Given the description of an element on the screen output the (x, y) to click on. 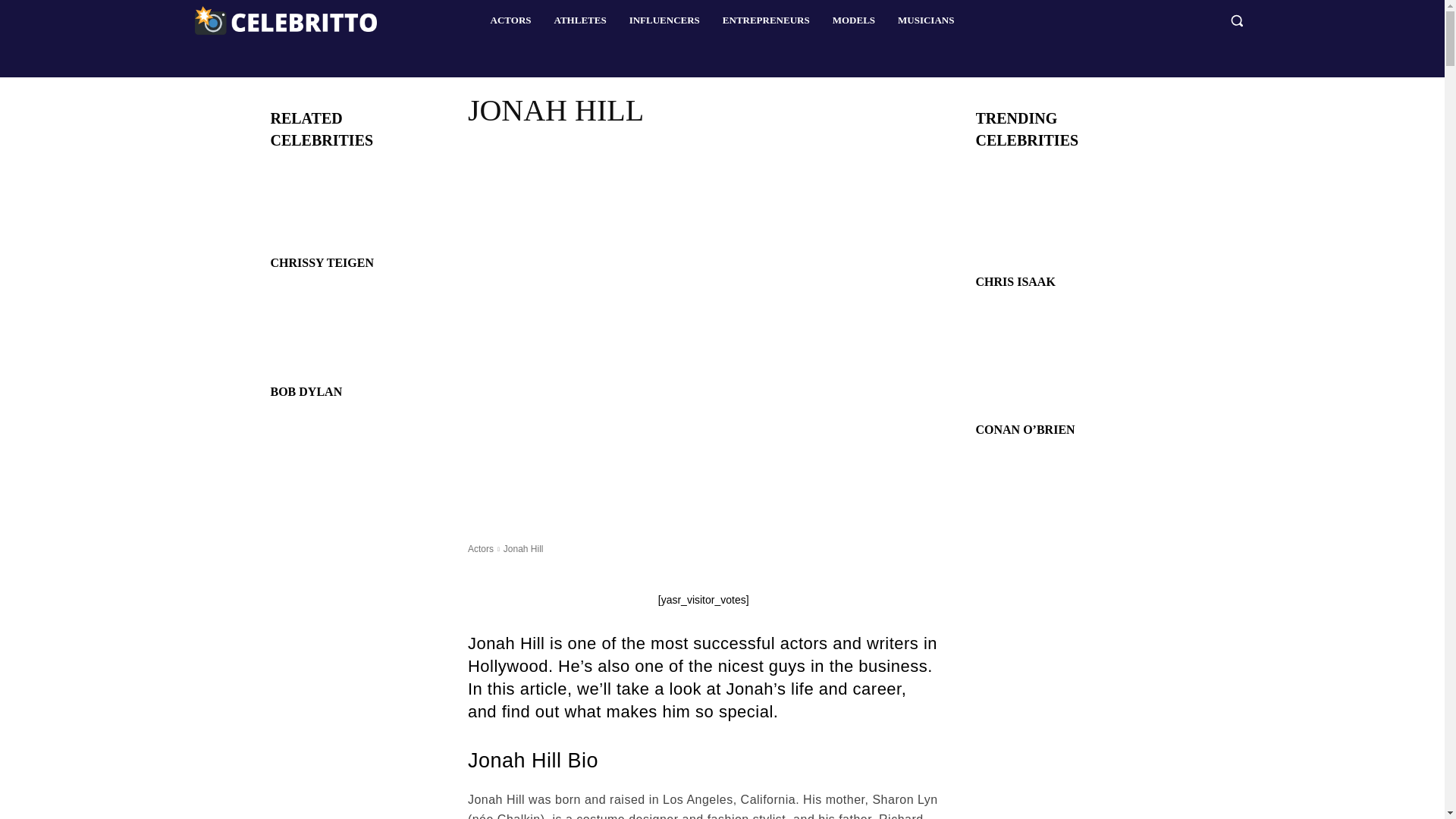
BOB DYLAN (305, 391)
Chrissy Teigen (349, 205)
MODELS (853, 20)
View all posts in Actors (480, 548)
Bob Dylan (349, 334)
MUSICIANS (924, 20)
ACTORS (510, 20)
ATHLETES (580, 20)
INFLUENCERS (664, 20)
CHRISSY TEIGEN (321, 262)
